Given the description of an element on the screen output the (x, y) to click on. 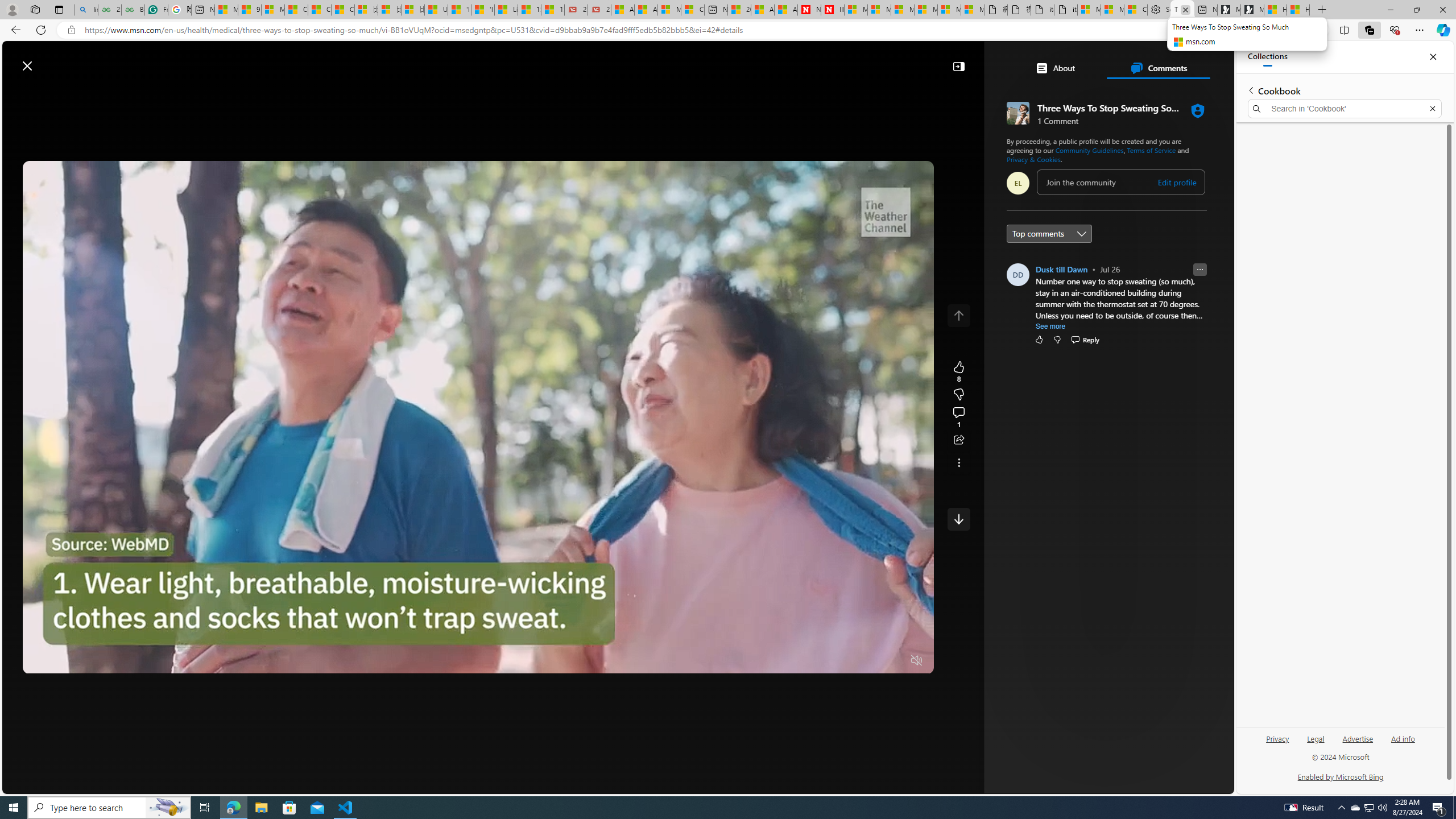
Fullscreen (895, 660)
Class: at-item detail-page (958, 462)
ABC News (1060, 415)
Report comment (1200, 269)
8 (958, 394)
